Given the description of an element on the screen output the (x, y) to click on. 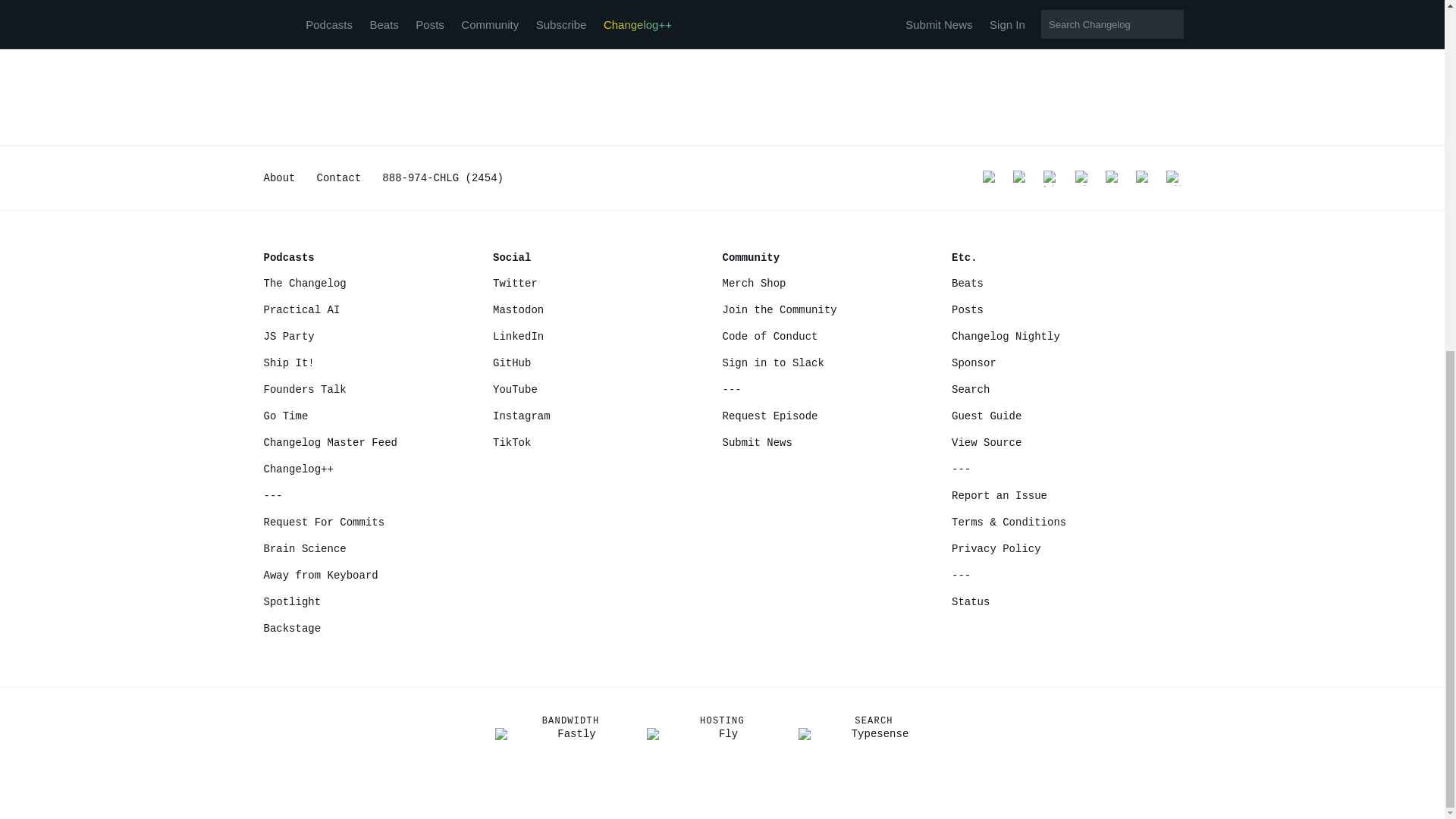
About (279, 177)
Contact (339, 177)
